Given the description of an element on the screen output the (x, y) to click on. 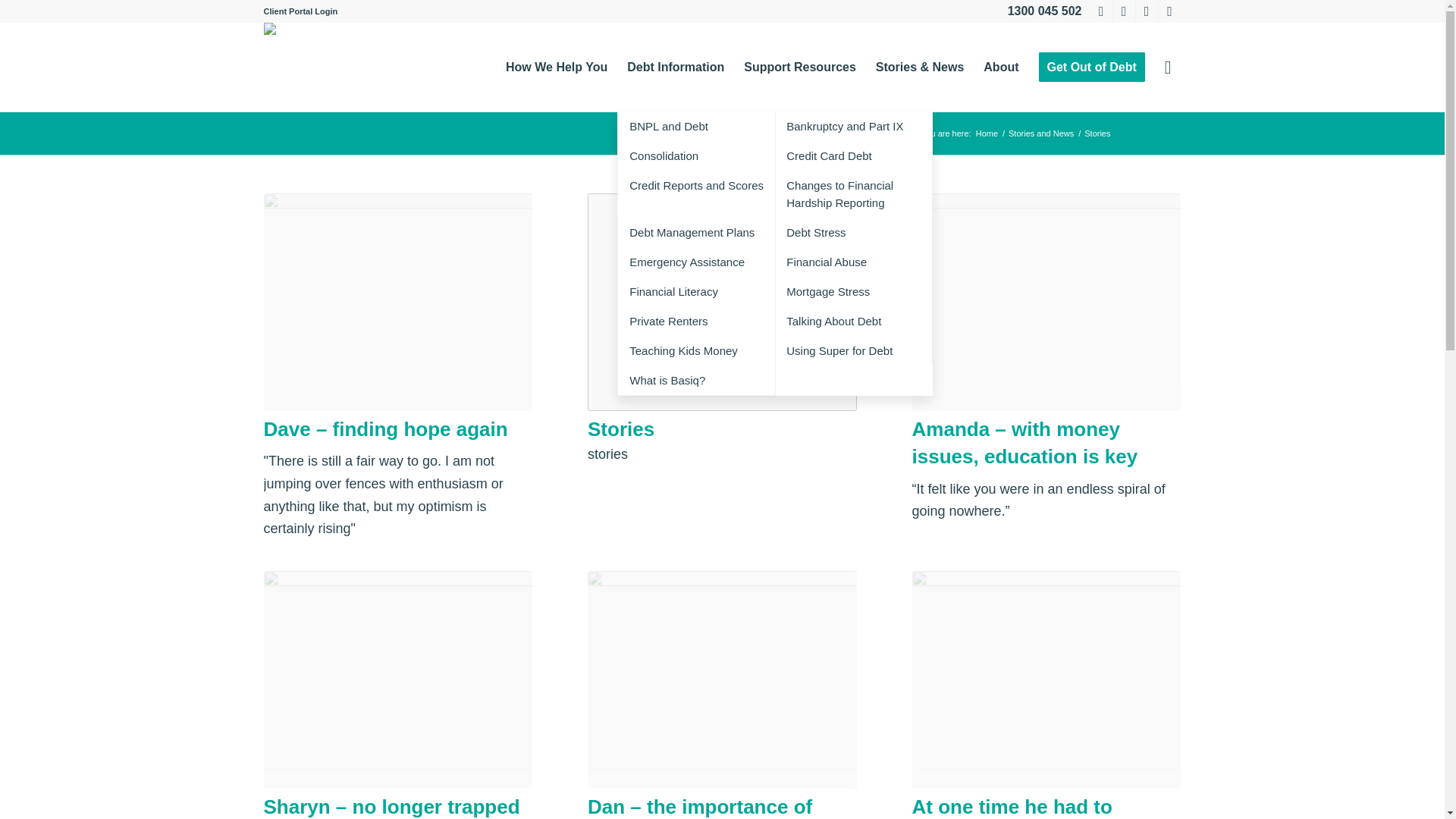
Stories and News (1040, 133)
Stories (722, 302)
Private Renters (695, 320)
Stories (620, 428)
Mortgage Stress (853, 291)
Client Portal Login (300, 10)
Credit Card Debt (853, 155)
Way Forward (987, 133)
How We Help You (556, 67)
Talking About Debt (853, 320)
Teaching Kids Money (695, 350)
Credit Reports and Scores (695, 184)
BNPL and Debt (695, 125)
Debt Information (675, 67)
LinkedIn (1101, 11)
